Given the description of an element on the screen output the (x, y) to click on. 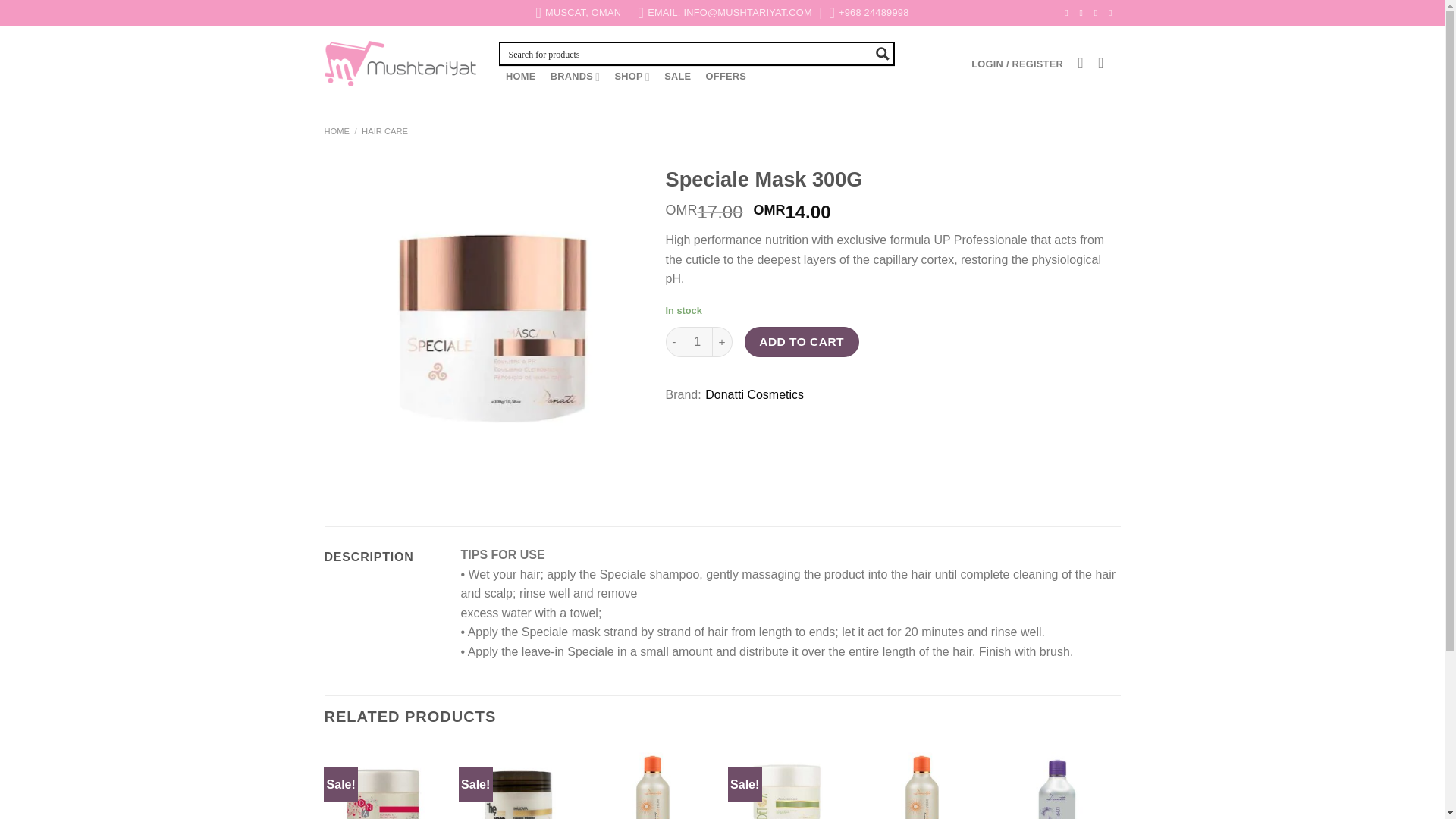
HOME (521, 76)
SHOP (632, 76)
MUSCAT, OMAN (578, 12)
Wishlist (1080, 63)
BRANDS (575, 76)
View brand (753, 394)
SALE (678, 76)
SPECIALE MASK 300ML (493, 327)
1 (697, 341)
Login (1016, 64)
OFFERS (726, 76)
Cart (1104, 63)
